Given the description of an element on the screen output the (x, y) to click on. 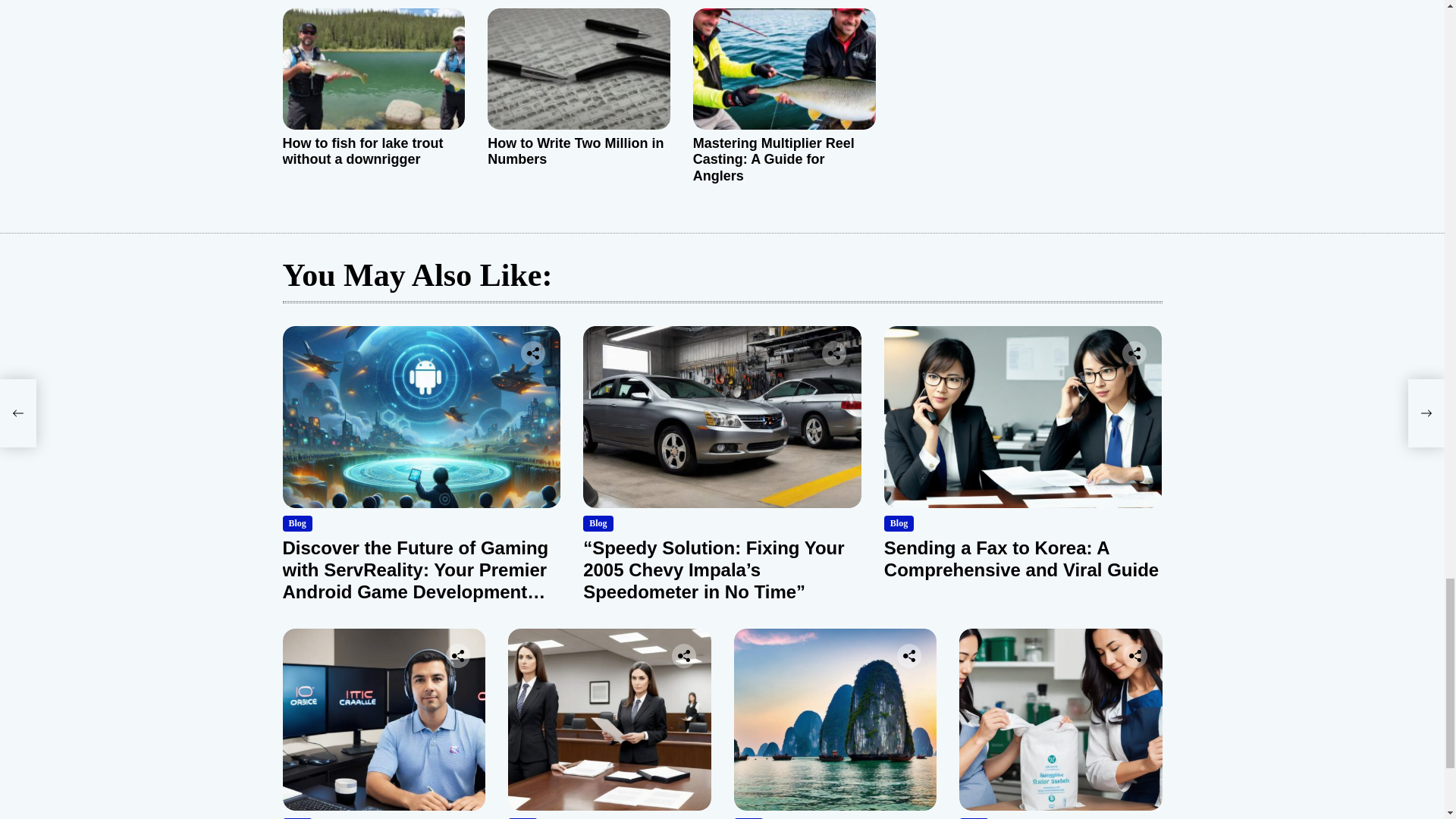
How to fish for lake trout without a downrigger (362, 151)
Mastering Multiplier Reel Casting: A Guide for Anglers (773, 159)
How to Write Two Million in Numbers (575, 151)
